Given the description of an element on the screen output the (x, y) to click on. 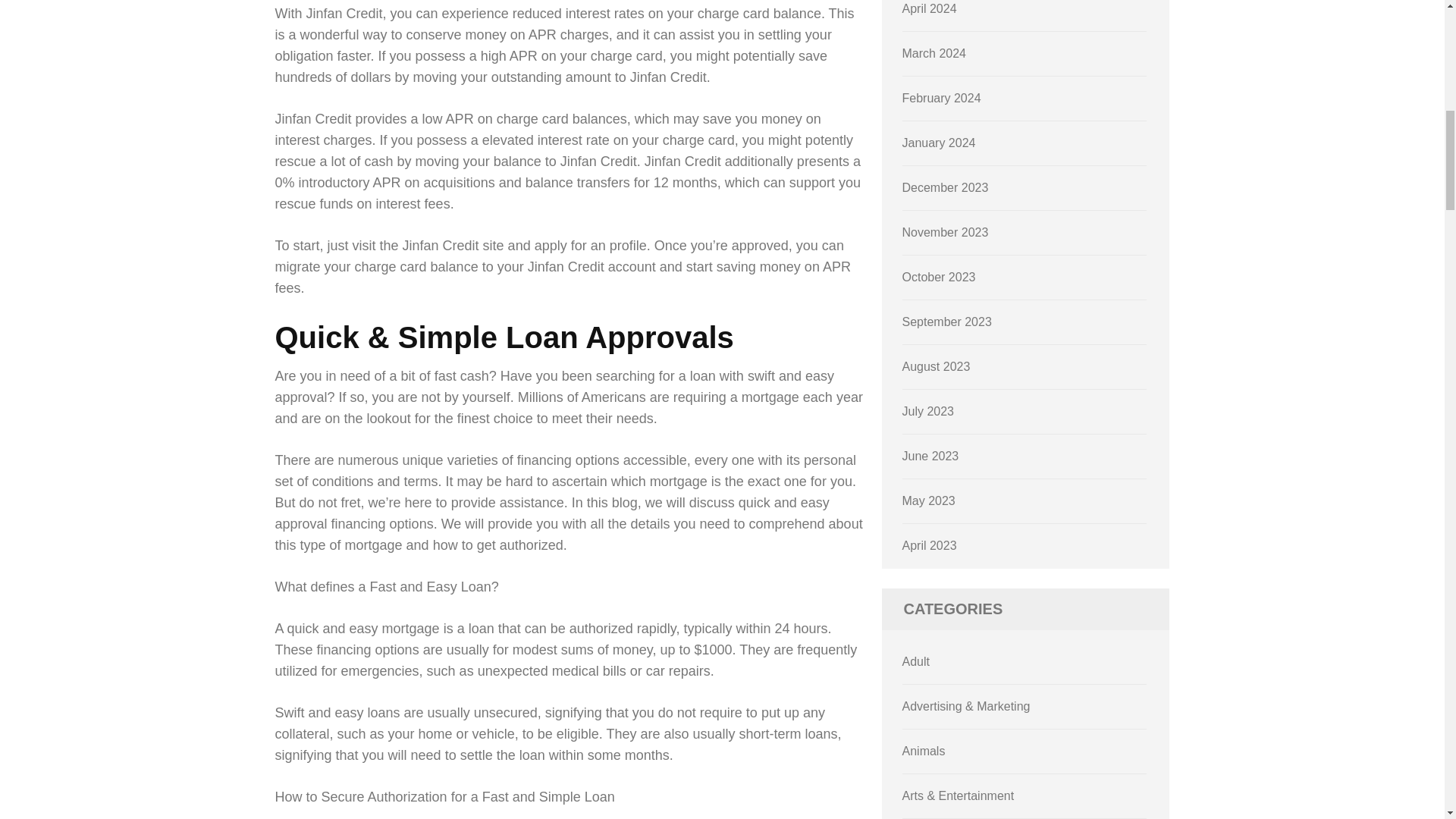
July 2023 (928, 410)
January 2024 (938, 142)
August 2023 (936, 366)
September 2023 (946, 321)
May 2023 (928, 500)
February 2024 (941, 97)
December 2023 (945, 187)
March 2024 (934, 52)
April 2024 (929, 8)
October 2023 (938, 277)
